Given the description of an element on the screen output the (x, y) to click on. 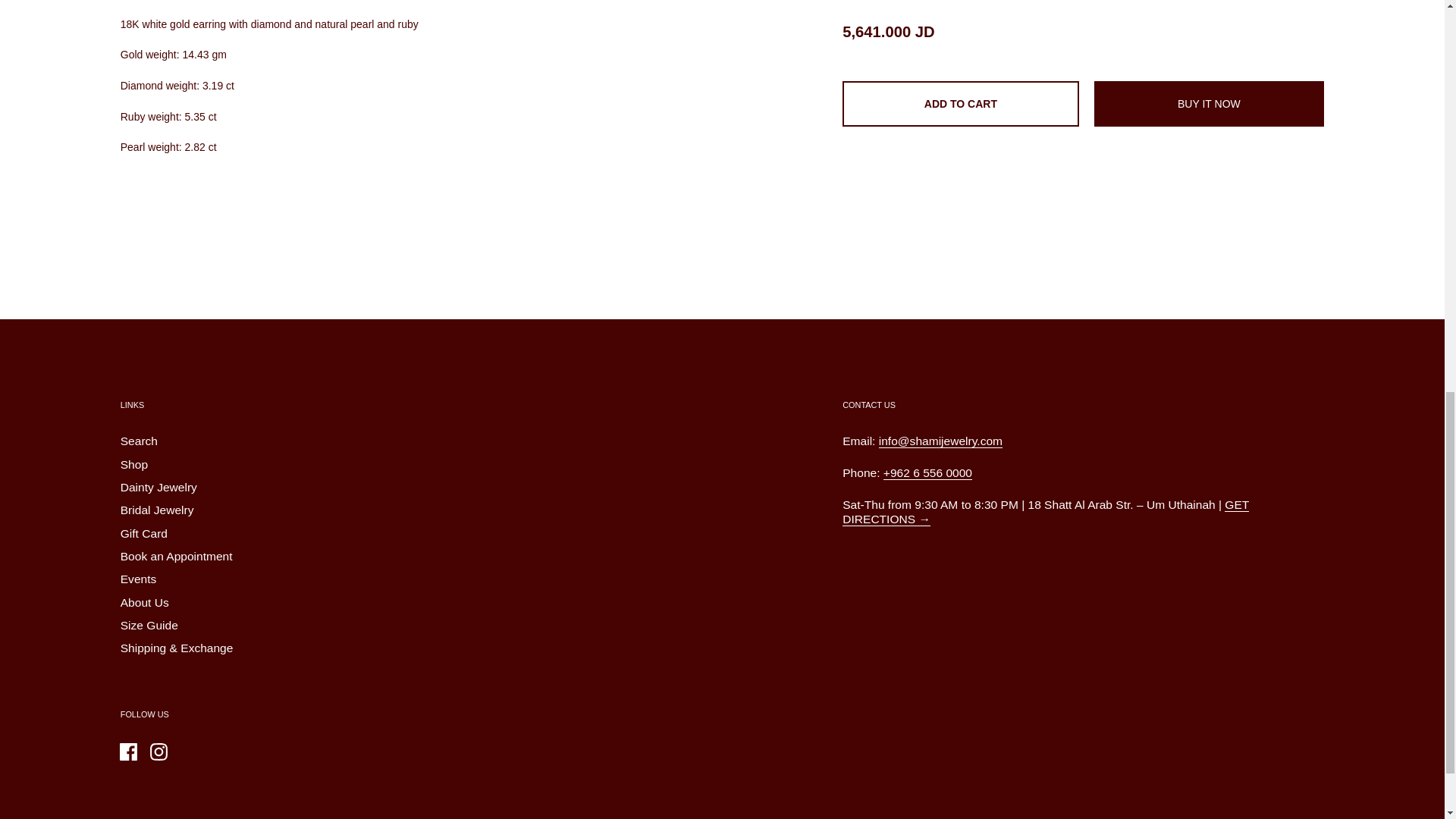
Events (138, 580)
Search (138, 441)
tel: 0096265560000 (927, 472)
Book an Appointment (176, 557)
About Us (144, 603)
Shop (134, 465)
Bridal Jewelry (156, 510)
Map (1046, 511)
Dainty Jewelry (158, 488)
Gift Card (143, 534)
